Given the description of an element on the screen output the (x, y) to click on. 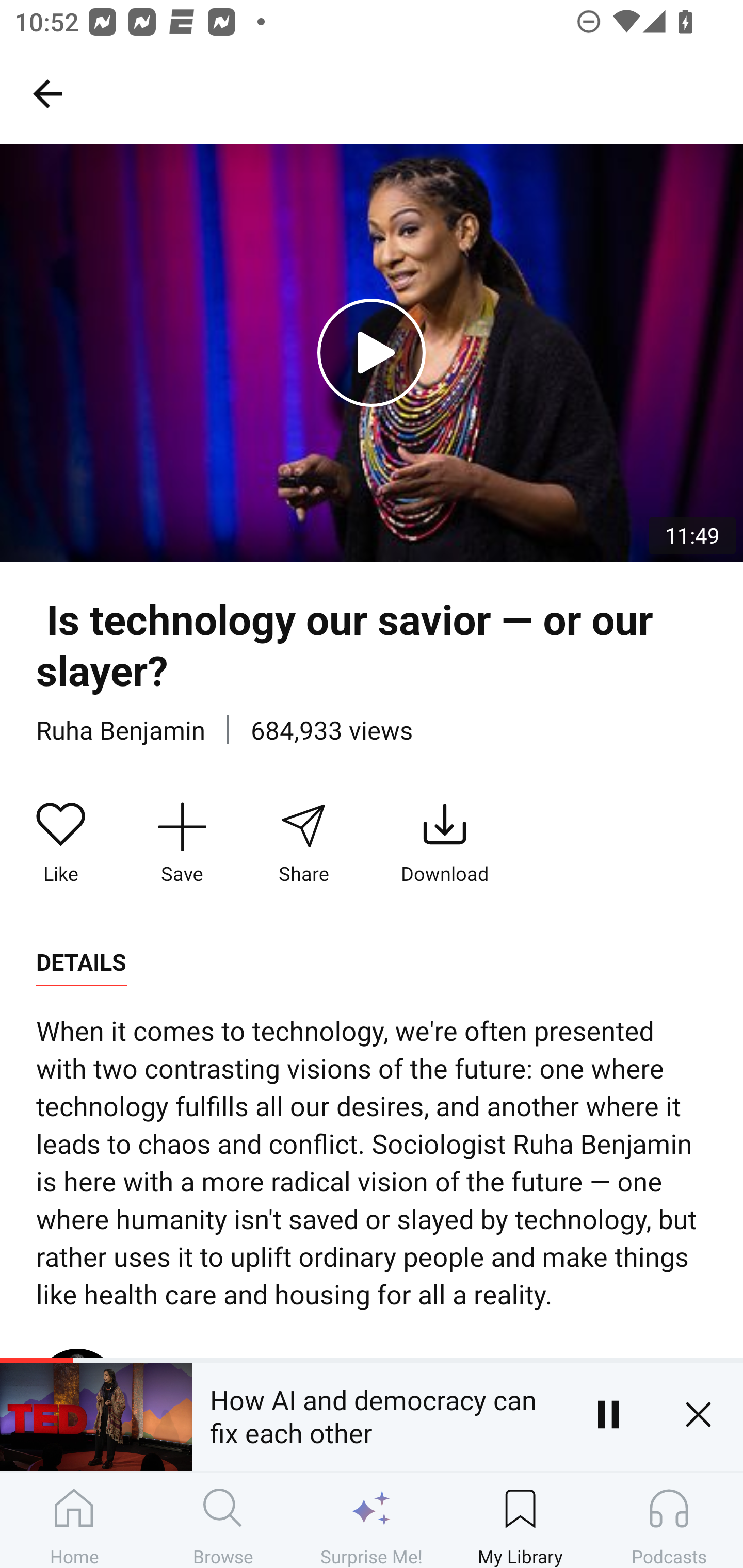
Go back (47, 92)
Like (60, 843)
Save (181, 843)
Share (302, 843)
Download (444, 843)
DETAILS (80, 962)
How AI and democracy can fix each other (377, 1413)
Home (74, 1520)
Browse (222, 1520)
Surprise Me! (371, 1520)
My Library (519, 1520)
Podcasts (668, 1520)
